Given the description of an element on the screen output the (x, y) to click on. 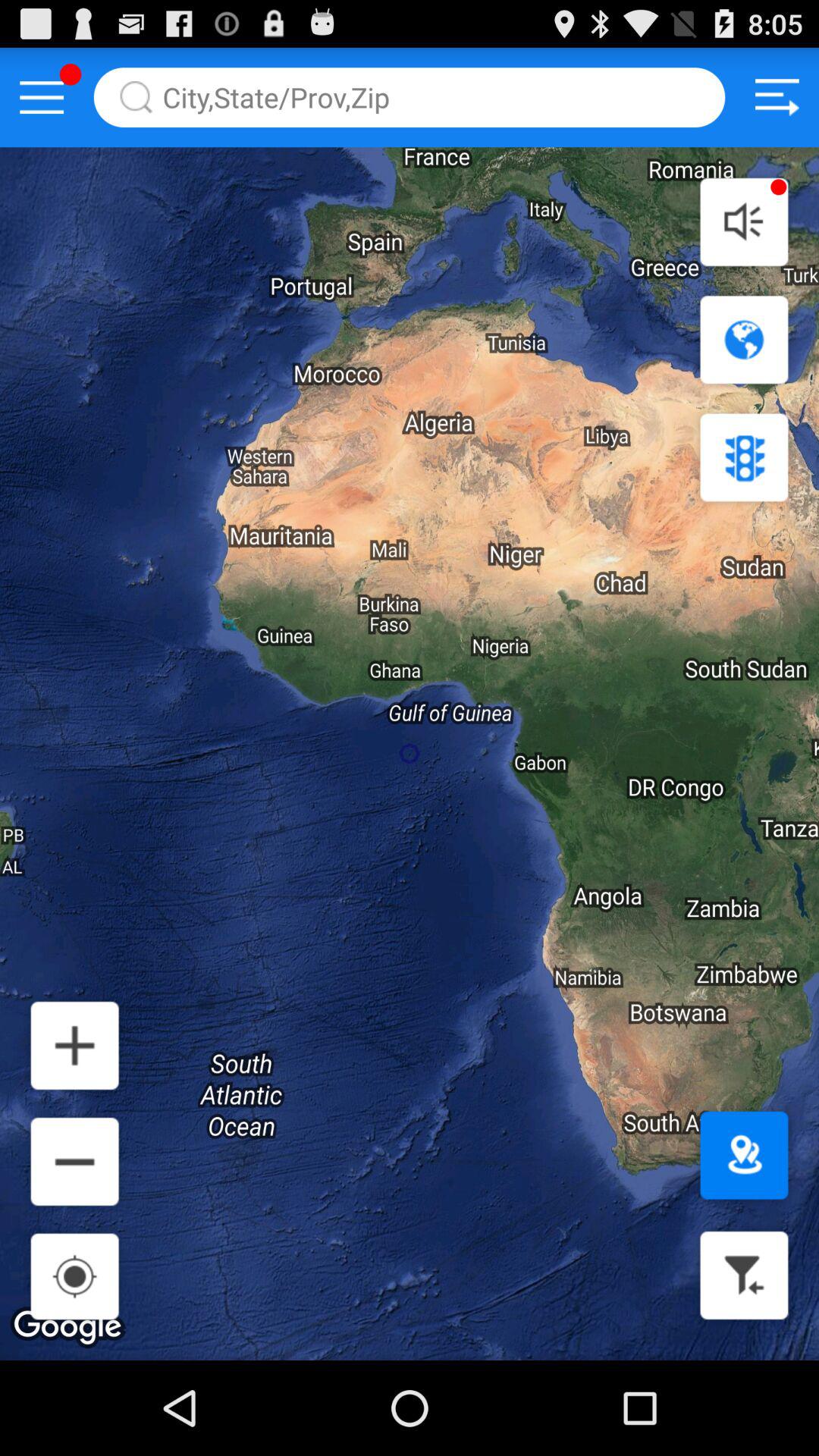
enter city state/prov zip details (409, 97)
